Given the description of an element on the screen output the (x, y) to click on. 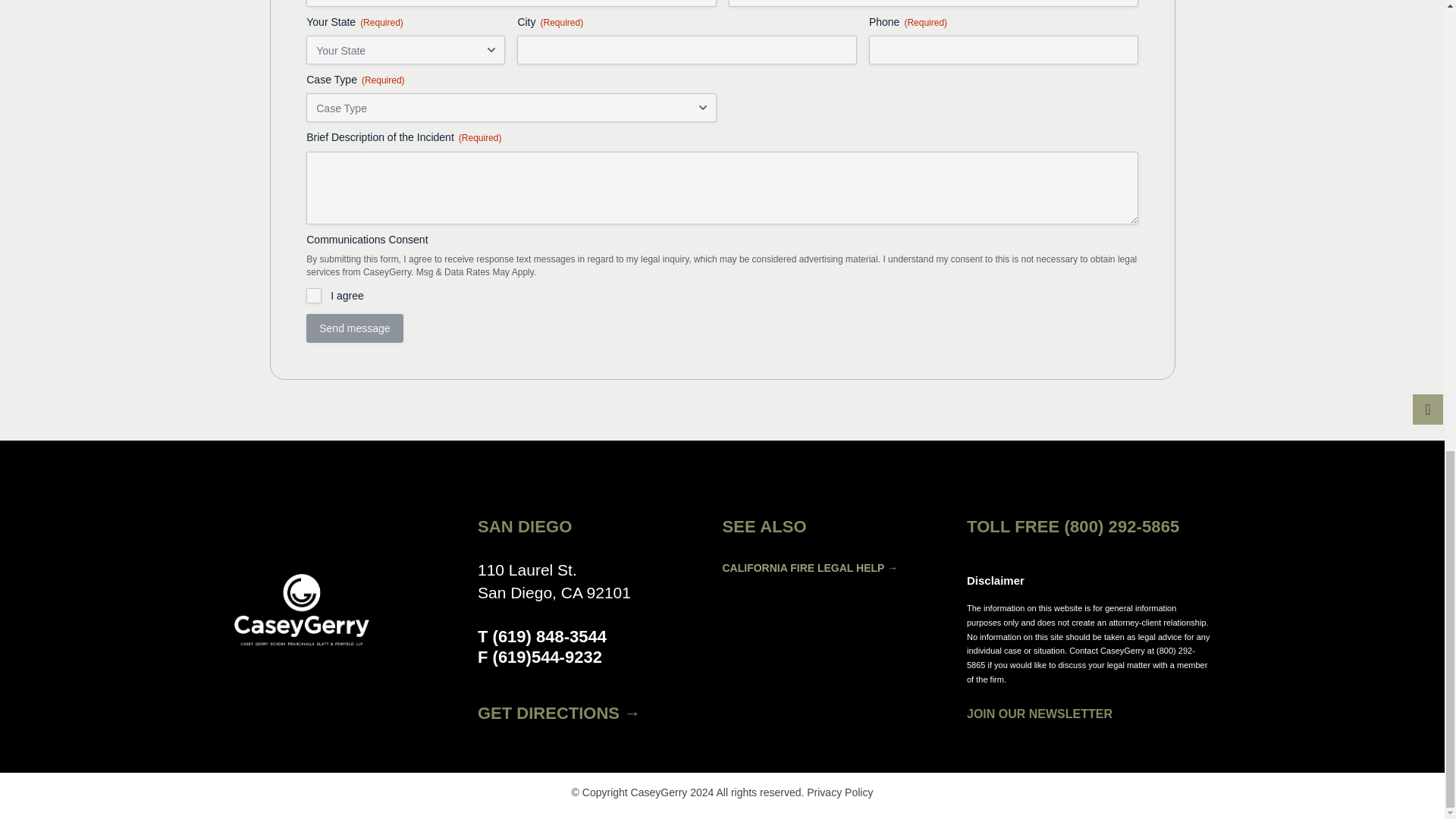
I agree (313, 295)
Send message (354, 328)
